Given the description of an element on the screen output the (x, y) to click on. 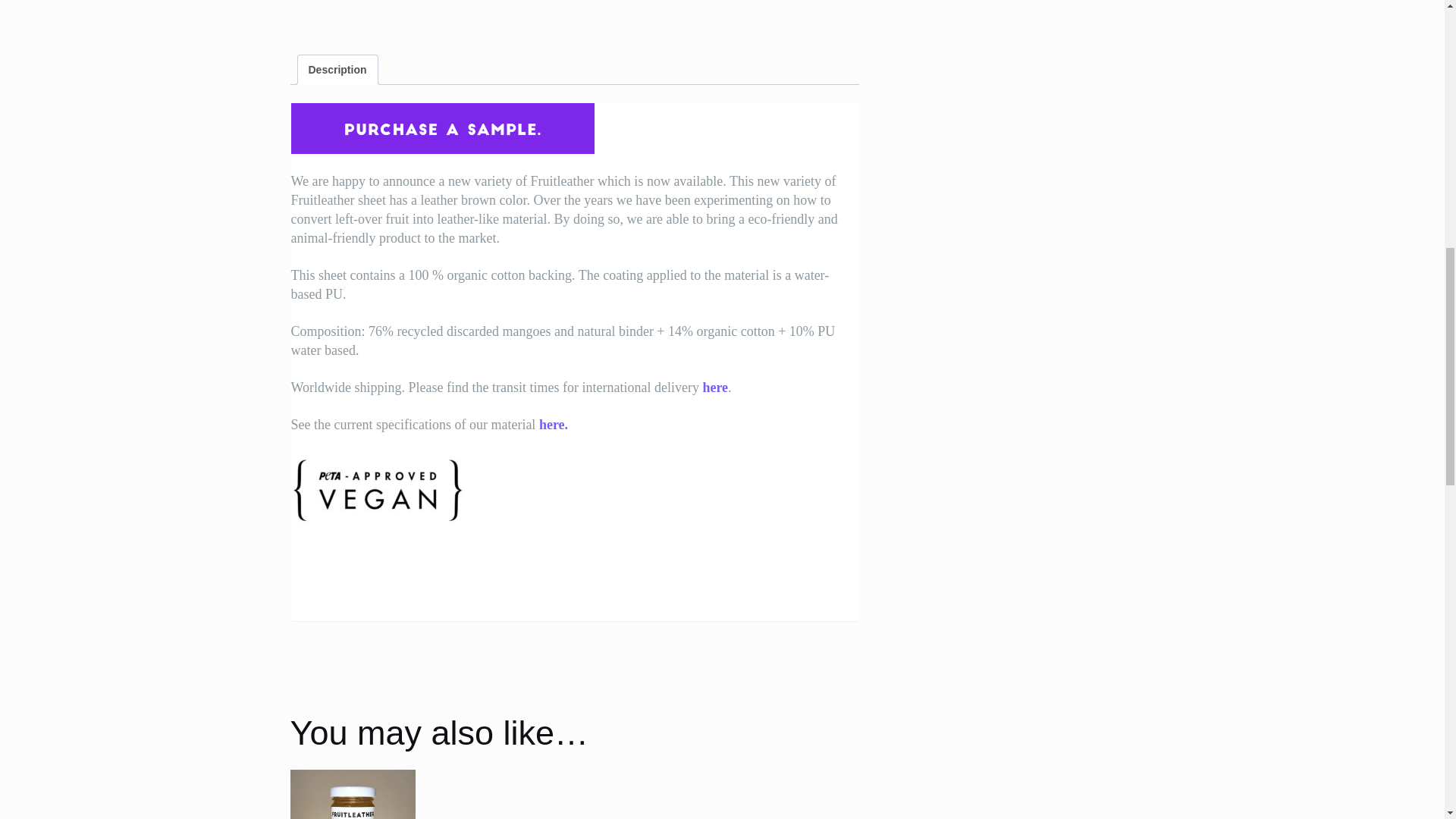
Description (336, 69)
here (714, 387)
here. (552, 424)
